Given the description of an element on the screen output the (x, y) to click on. 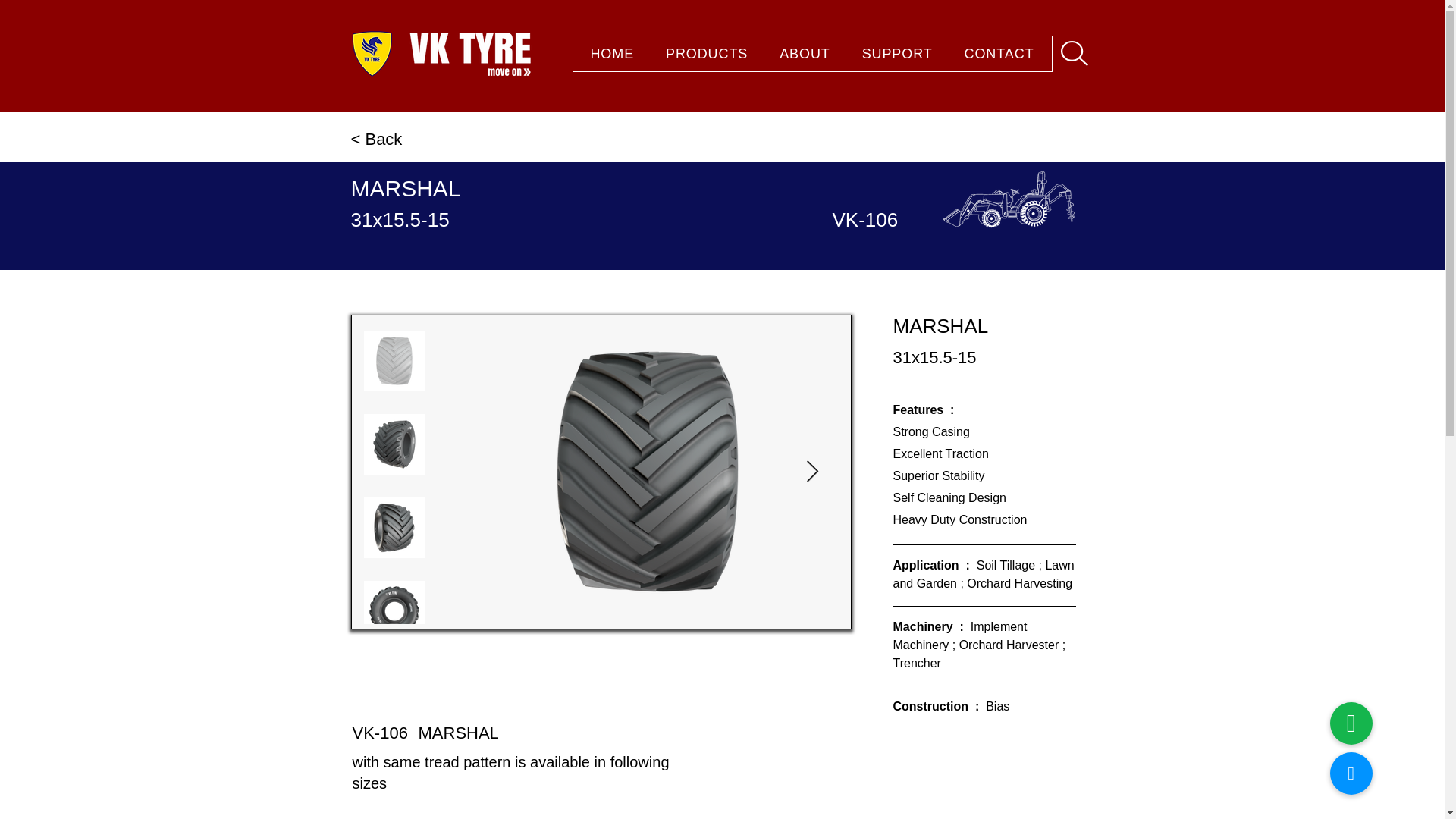
vkt.png (469, 53)
LOGO-PNG.png (811, 54)
HOME (371, 53)
CONTACT (612, 53)
